Given the description of an element on the screen output the (x, y) to click on. 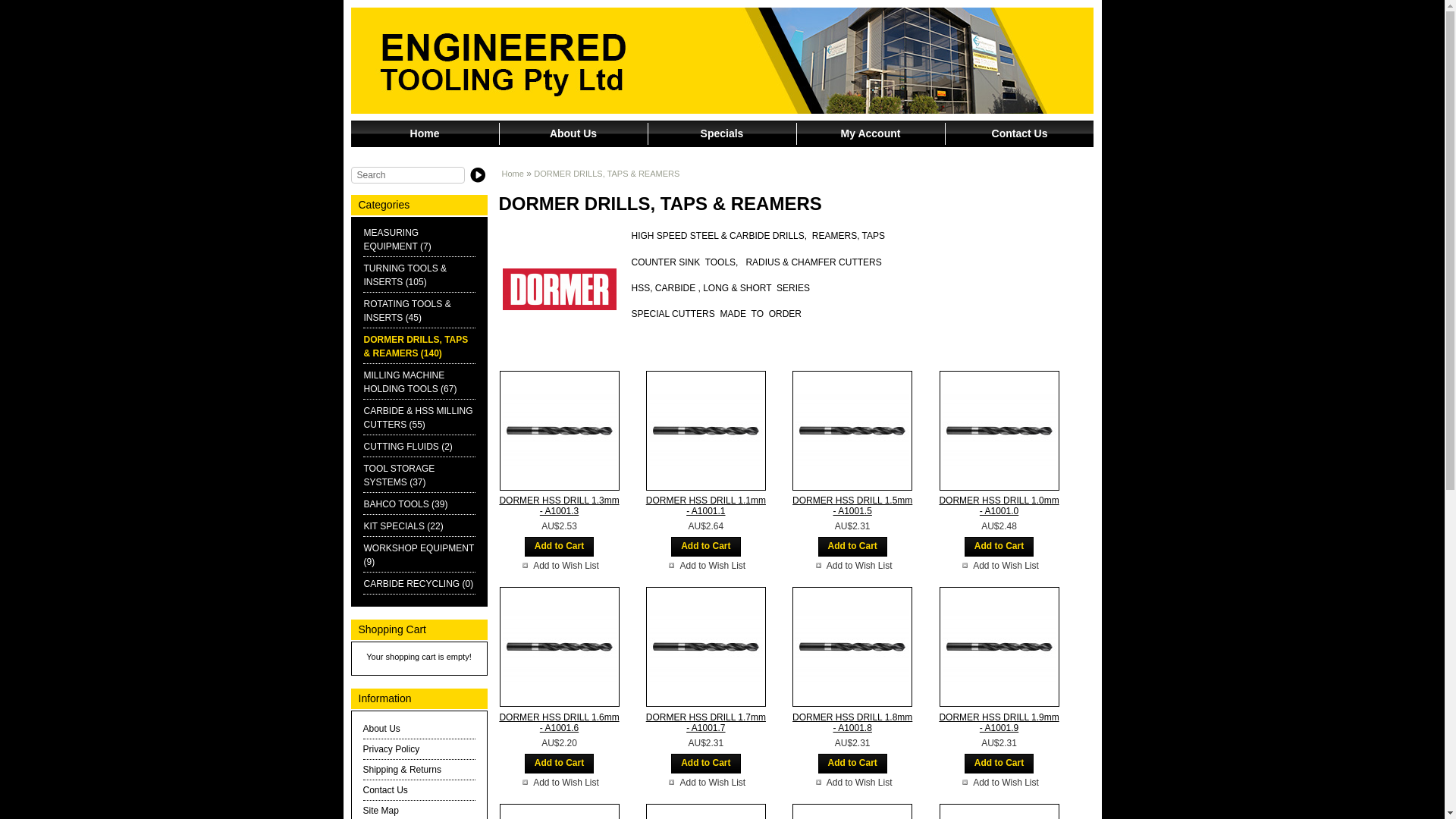
Add to Cart Element type: text (998, 546)
Add to Wish List Element type: text (559, 565)
Add to Wish List Element type: text (705, 782)
Add to Wish List Element type: text (559, 782)
CUTTING FLUIDS (2) Element type: text (408, 446)
Add to Cart Element type: text (998, 763)
My Account Element type: text (870, 133)
DORMER HSS DRILL 1.7mm - A1001.7 Element type: text (705, 721)
Add to Cart Element type: text (852, 763)
TOOL STORAGE SYSTEMS (37) Element type: text (399, 475)
DORMER HSS DRILL 1.0mm - A1001.0 Element type: text (999, 505)
Contact Us Element type: text (384, 789)
DORMER HSS DRILL 1.9mm - A1001.9 Element type: hover (999, 646)
MILLING MACHINE HOLDING TOOLS (67) Element type: text (410, 382)
CARBIDE RECYCLING (0) Element type: text (418, 583)
CARBIDE & HSS MILLING CUTTERS (55) Element type: text (418, 417)
TURNING TOOLS & INSERTS (105) Element type: text (405, 275)
Add to Wish List Element type: text (998, 782)
DORMER HSS DRILL 1.8mm - A1001.8 Element type: hover (852, 646)
About Us Element type: text (380, 728)
BAHCO TOOLS (39) Element type: text (406, 503)
Add to Wish List Element type: text (705, 565)
Add to Cart Element type: text (558, 763)
WORKSHOP EQUIPMENT (9) Element type: text (419, 554)
Add to Wish List Element type: text (852, 782)
Shipping & Returns Element type: text (401, 769)
DORMER DRILLS, TAPS & REAMERS (140) Element type: text (416, 346)
Add to Cart Element type: text (852, 546)
Add to Cart Element type: text (705, 763)
Add to Cart Element type: text (558, 546)
Specials Element type: text (721, 133)
Site Map Element type: text (380, 810)
Add to Cart Element type: text (705, 546)
DORMER HSS DRILL 1.0mm - A1001.0  Element type: hover (999, 430)
Engineered Tooling Pty Ltd Element type: hover (721, 60)
Privacy Policy Element type: text (390, 748)
DORMER HSS DRILL 1.3mm - A1001.3 Element type: text (559, 505)
DORMER HSS DRILL 1.3mm - A1001.3 Element type: hover (558, 430)
DORMER HSS DRILL 1.7mm - A1001.7 Element type: hover (705, 646)
Home Element type: text (513, 173)
DORMER HSS DRILL 1.1mm - A1001.1 Element type: text (705, 505)
DORMER HSS DRILL 1.6mm - A1001.6  Element type: hover (558, 646)
DORMER DRILLS, TAPS & REAMERS Element type: text (606, 173)
DORMER HSS DRILL 1.8mm - A1001.8 Element type: text (852, 721)
Add to Wish List Element type: text (852, 565)
KIT SPECIALS (22) Element type: text (403, 525)
DORMER HSS DRILL 1.1mm - A1001.1 Element type: hover (705, 430)
DORMER HSS DRILL 1.6mm - A1001.6 Element type: text (559, 721)
MEASURING EQUIPMENT (7) Element type: text (397, 239)
Add to Wish List Element type: text (998, 565)
DORMER HSS DRILL 1.9mm - A1001.9 Element type: text (999, 721)
Contact Us Element type: text (1018, 133)
DORMER HSS DRILL 1.5mm - A1001.5 Element type: hover (852, 430)
DORMER HSS DRILL 1.5mm - A1001.5 Element type: text (852, 505)
About Us Element type: text (572, 133)
ROTATING TOOLS & INSERTS (45) Element type: text (407, 310)
Home Element type: text (424, 133)
